Given the description of an element on the screen output the (x, y) to click on. 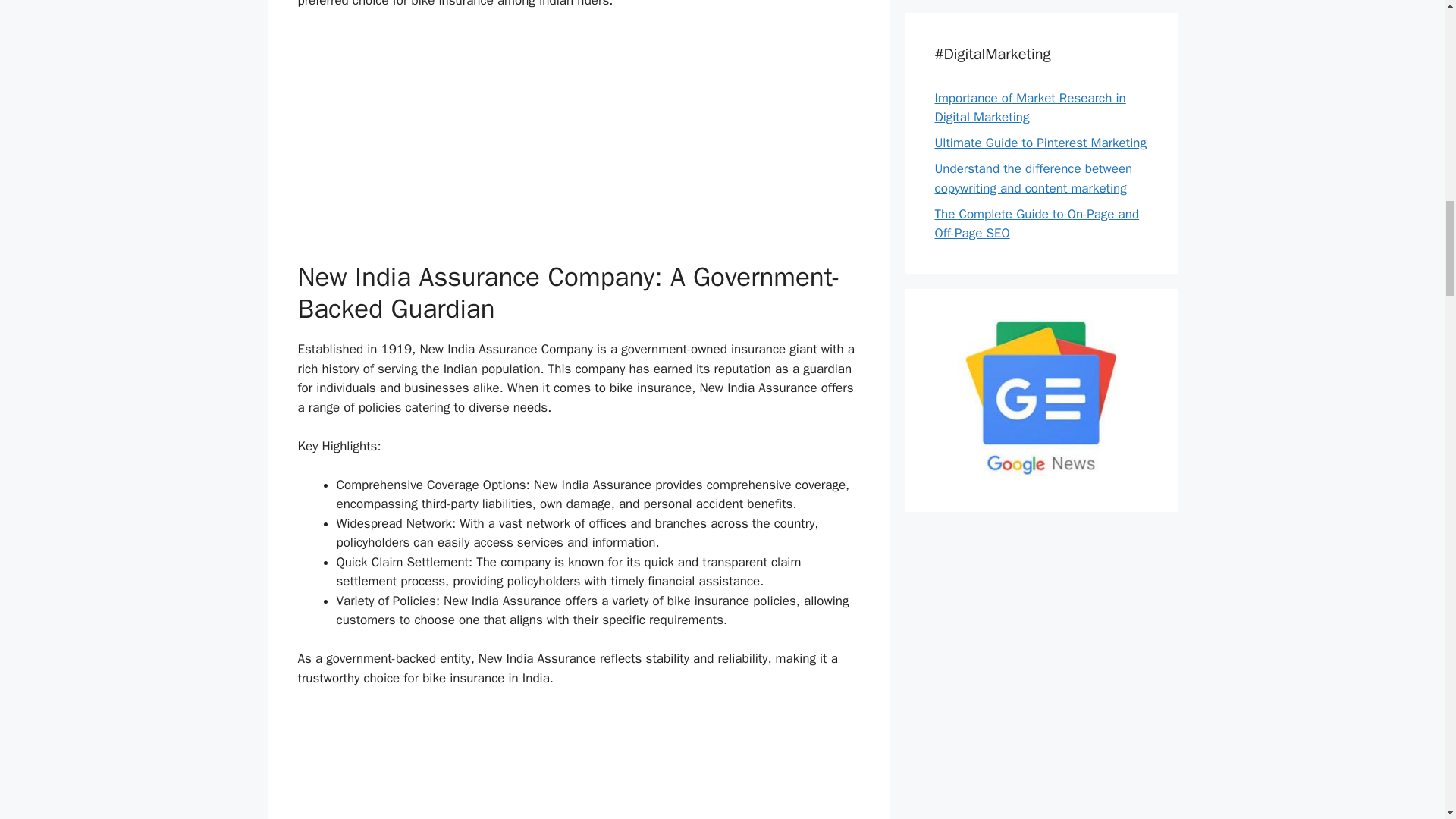
Advertisement (578, 135)
Advertisement (578, 763)
Google News Approved (1040, 471)
